Given the description of an element on the screen output the (x, y) to click on. 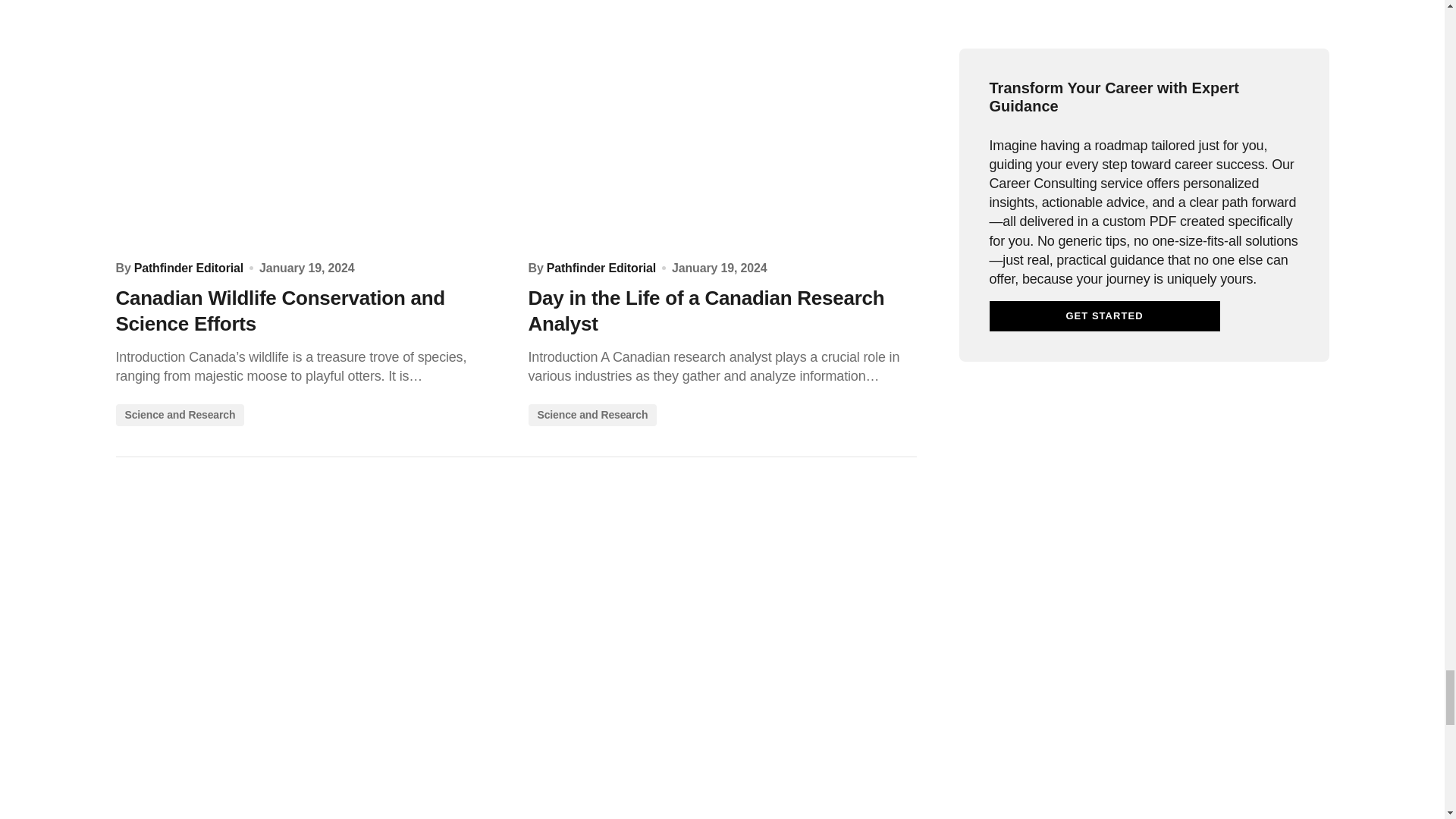
Top Skills Needed for Research Analysts in Canada (309, 653)
Canadian Wildlife Conservation and Science Efforts (309, 124)
Day in the Life of a Canadian Research Analyst (721, 124)
Research Analysts: Salary Trends in Canada 2024 (721, 653)
